Given the description of an element on the screen output the (x, y) to click on. 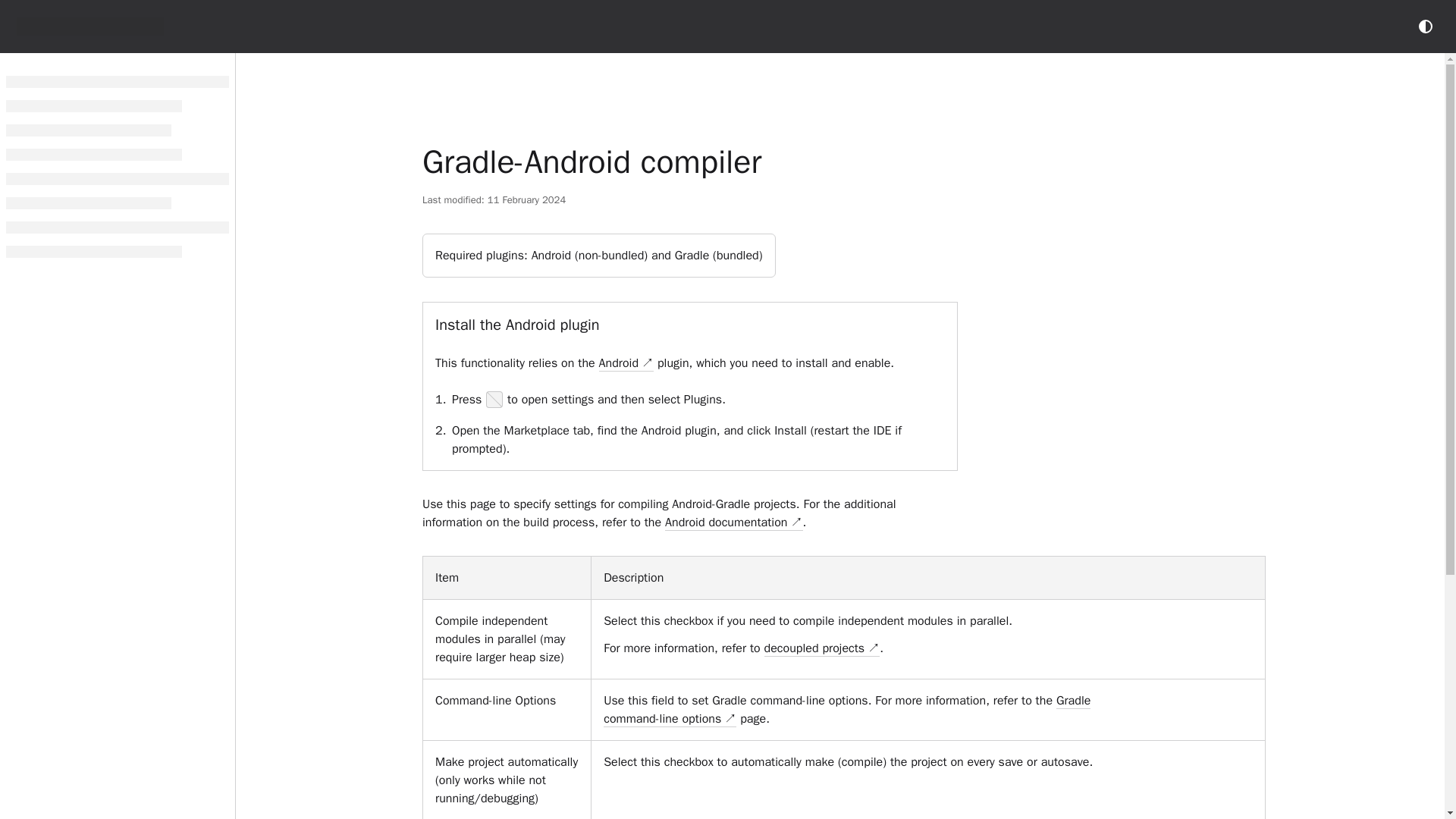
Android (625, 363)
Switch theme (1425, 26)
decoupled projects (822, 648)
Gradle command-line options (847, 709)
Android documentation (734, 522)
